Given the description of an element on the screen output the (x, y) to click on. 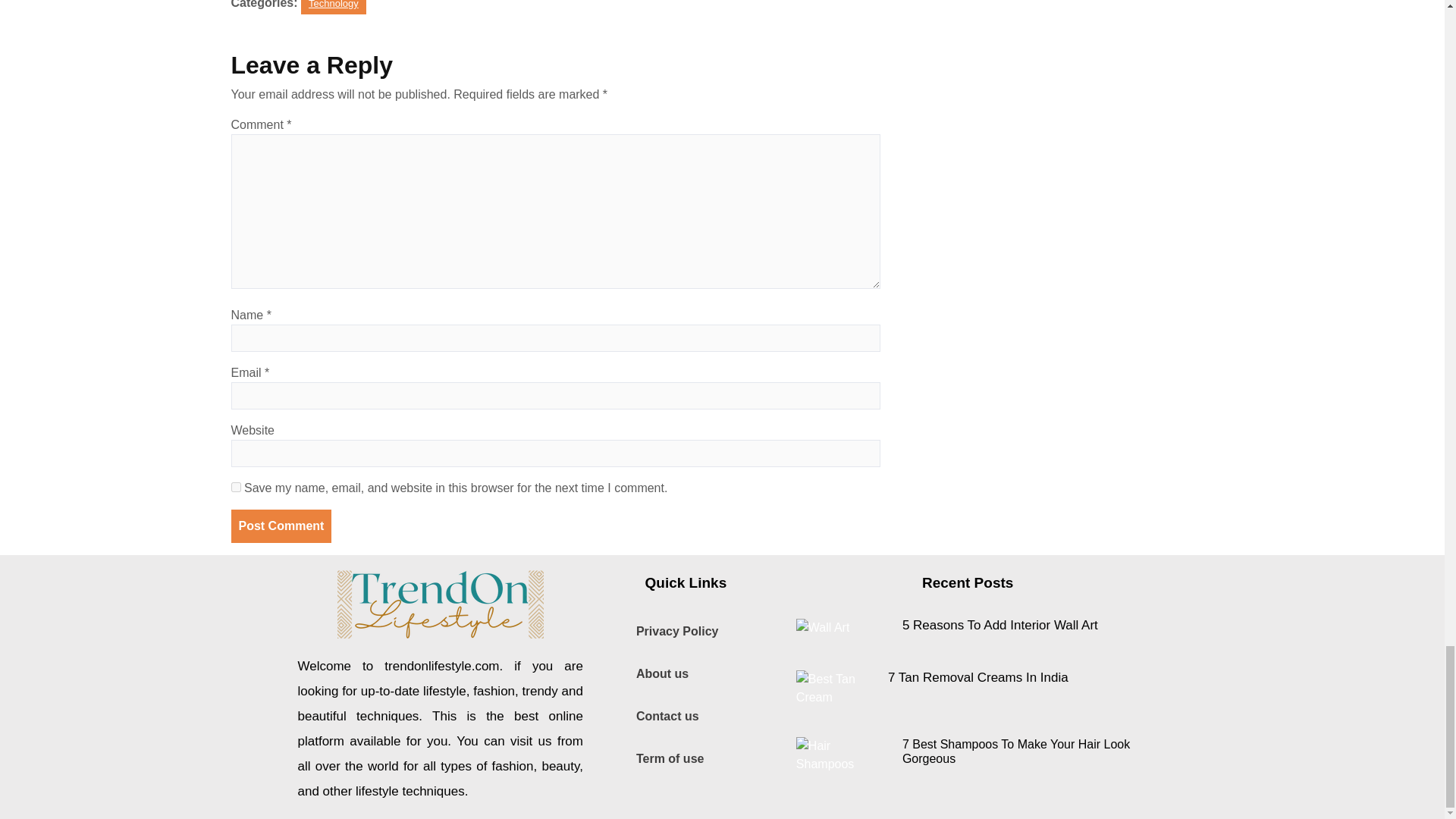
Post Comment (280, 525)
Technology (333, 7)
yes (235, 487)
Post Comment (280, 525)
